Given the description of an element on the screen output the (x, y) to click on. 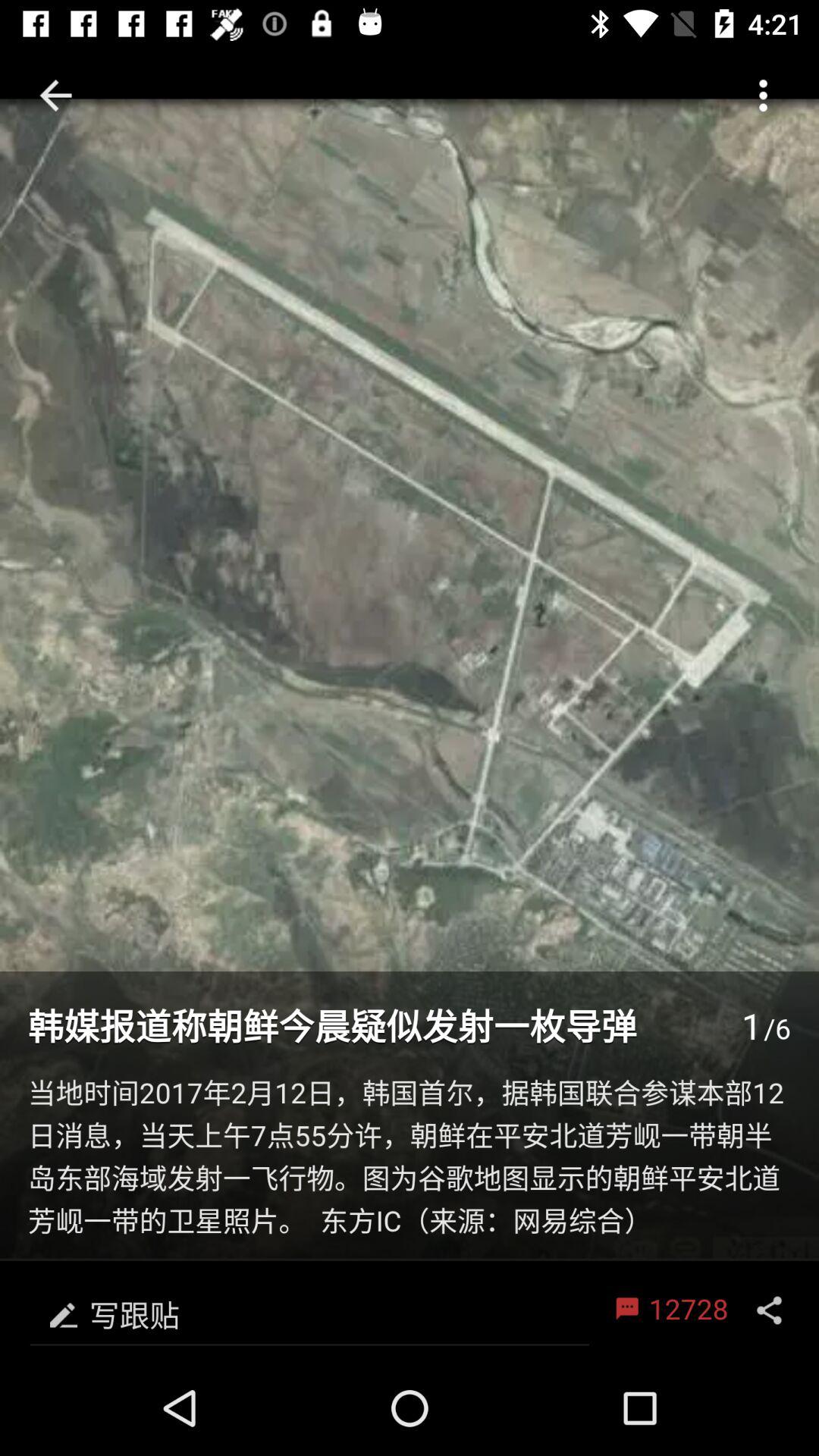
select icon to the right of 12728 icon (768, 1310)
